Given the description of an element on the screen output the (x, y) to click on. 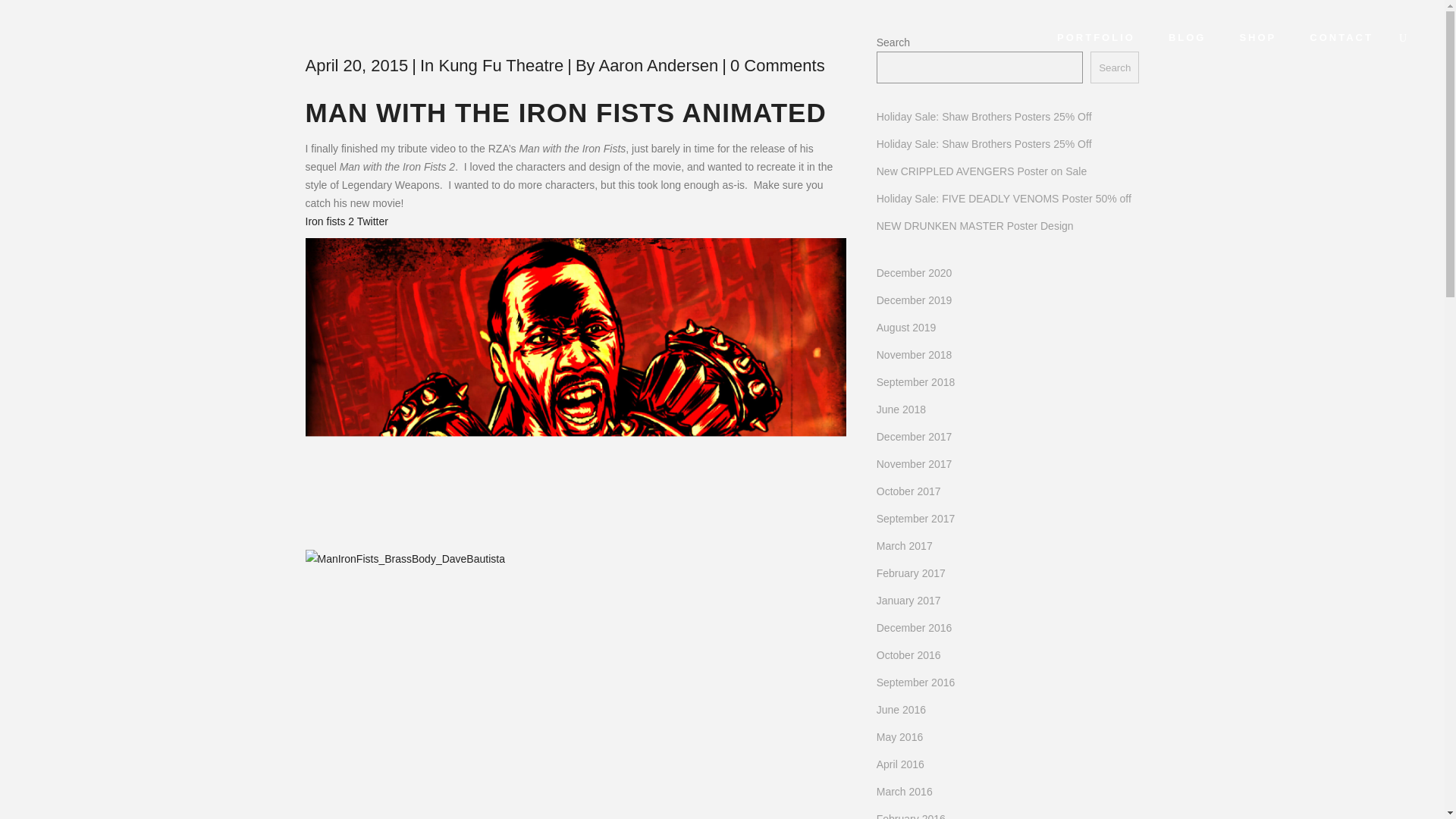
December 2019 (914, 300)
Kung Fu Theatre (500, 65)
0 Comments (777, 65)
Search (1114, 67)
Aaron Andersen (657, 65)
December 2020 (914, 272)
Iron fists 2 Twitter (345, 221)
NEW DRUNKEN MASTER Poster Design (975, 225)
CONTACT (1341, 38)
PORTFOLIO (1095, 38)
